Given the description of an element on the screen output the (x, y) to click on. 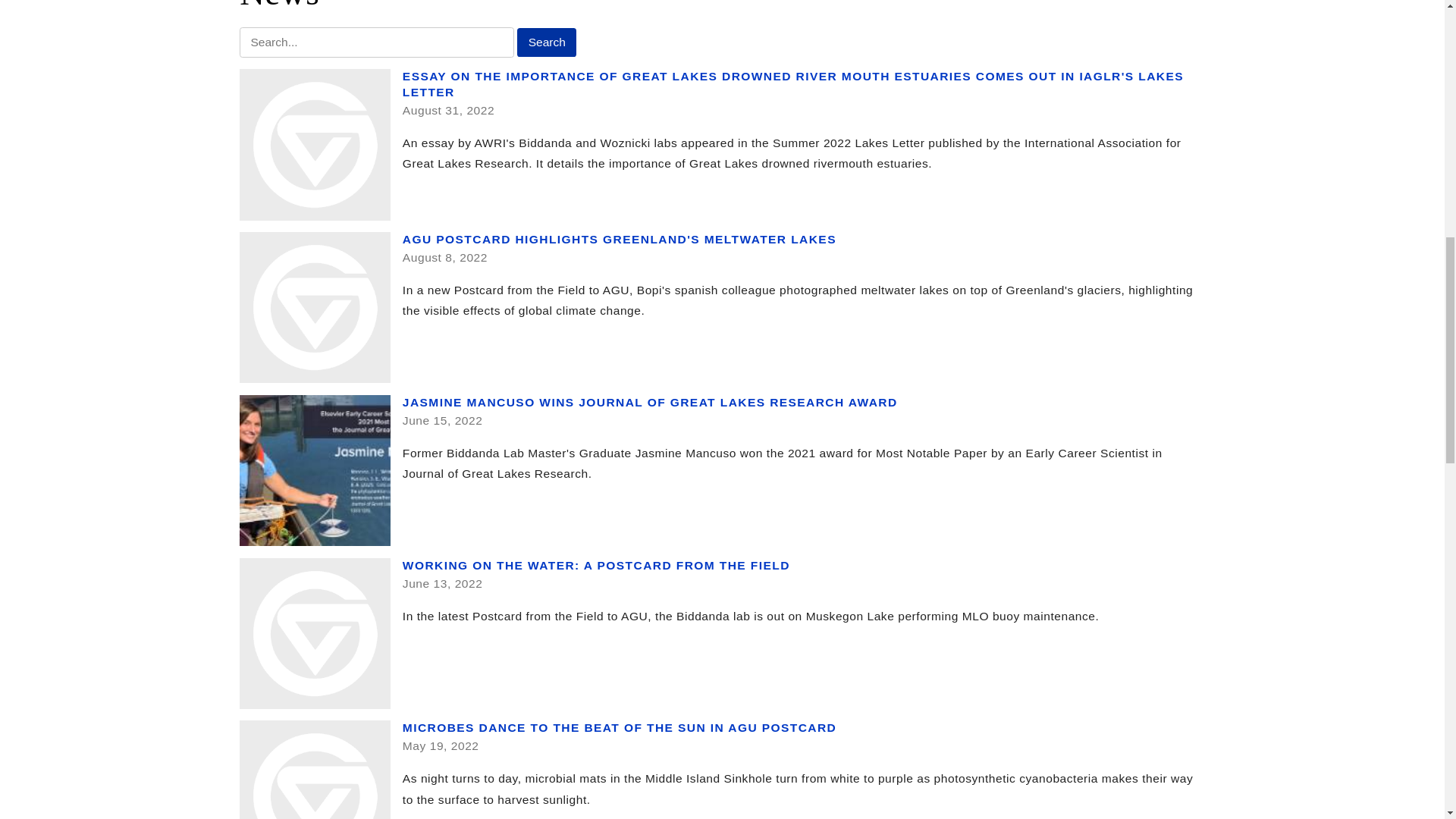
Search (546, 41)
AGU POSTCARD HIGHLIGHTS GREENLAND'S MELTWATER LAKES (619, 238)
WORKING ON THE WATER: A POSTCARD FROM THE FIELD (596, 564)
Search (546, 41)
JASMINE MANCUSO WINS JOURNAL OF GREAT LAKES RESEARCH AWARD (650, 401)
MICROBES DANCE TO THE BEAT OF THE SUN IN AGU POSTCARD (619, 727)
